Given the description of an element on the screen output the (x, y) to click on. 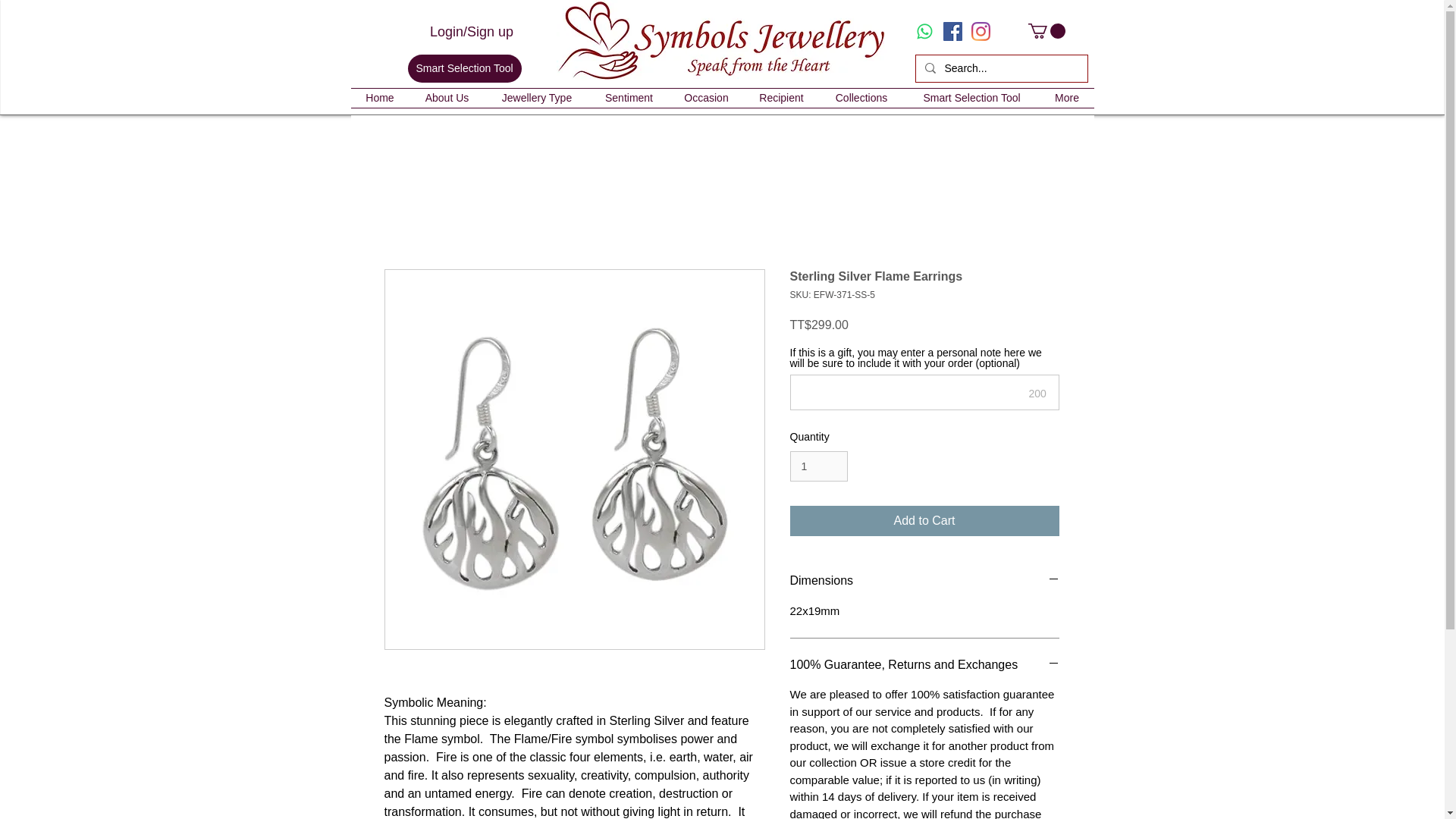
Smart Selection Tool (464, 68)
Home (379, 97)
1 (818, 466)
